Given the description of an element on the screen output the (x, y) to click on. 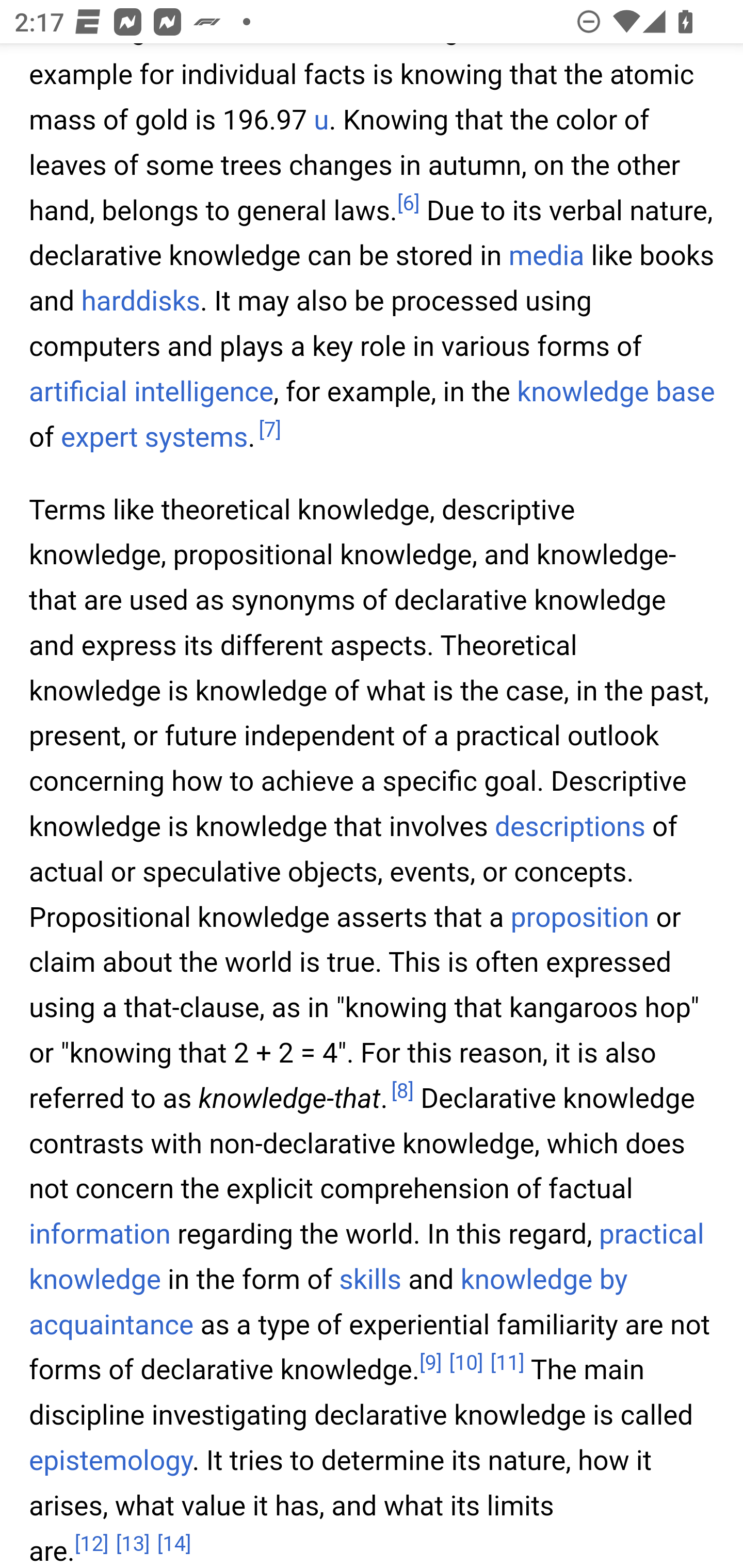
u (320, 121)
[] [ 6 ] (407, 204)
media (546, 256)
harddisks (140, 302)
artificial intelligence (151, 391)
knowledge base (616, 391)
[] [ 7 ] (269, 430)
expert systems (153, 437)
descriptions (570, 827)
proposition (579, 917)
[] [ 8 ] (402, 1091)
information (99, 1235)
practical knowledge (366, 1258)
knowledge by acquaintance (328, 1303)
skills (369, 1280)
[] [ 9 ] (430, 1363)
[] [ 10 ] (465, 1363)
[] [ 11 ] (506, 1363)
epistemology (110, 1461)
[] [ 12 ] (91, 1543)
[] [ 13 ] (133, 1543)
[] [ 14 ] (174, 1543)
